Given the description of an element on the screen output the (x, y) to click on. 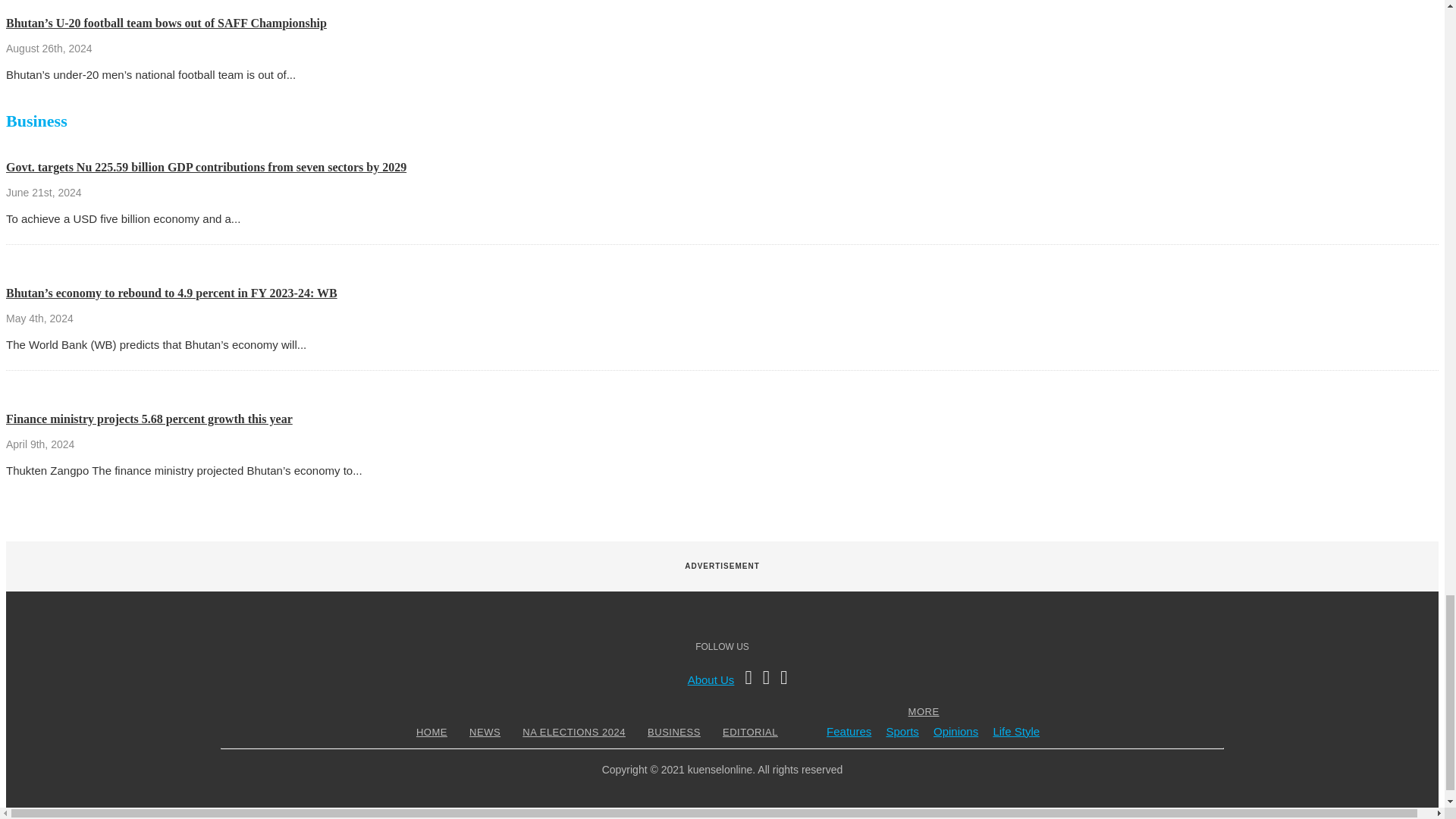
NEWS (484, 731)
NA ELECTIONS 2024 (573, 731)
About Us (711, 679)
BUSINESS (673, 731)
Finance ministry projects 5.68 percent growth this year (148, 418)
MORE (923, 711)
EDITORIAL (750, 731)
HOME (431, 731)
